Given the description of an element on the screen output the (x, y) to click on. 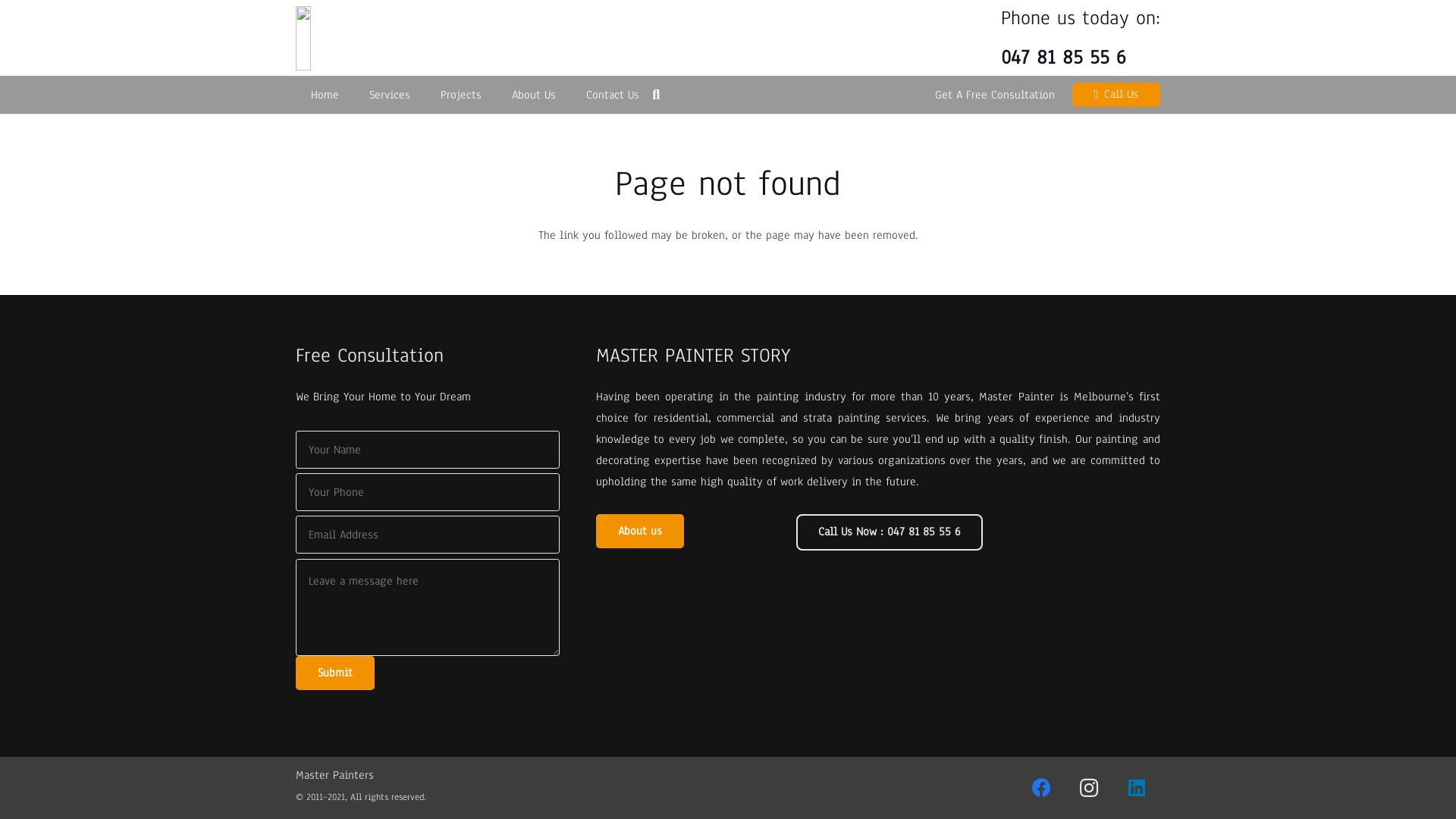
Contact Us Element type: text (612, 94)
Instagram Element type: hover (1089, 788)
About Us Element type: text (533, 94)
LinkedIn Element type: hover (1137, 788)
About us Element type: text (640, 531)
Projects Element type: text (460, 94)
Facebook Element type: hover (1041, 788)
Call Us Now : 047 81 85 55 6 Element type: text (889, 532)
Submit Element type: text (334, 672)
Services Element type: text (389, 94)
047 81 85 55 6 Element type: text (1063, 56)
Call Us Element type: text (1116, 94)
Home Element type: text (324, 94)
